Given the description of an element on the screen output the (x, y) to click on. 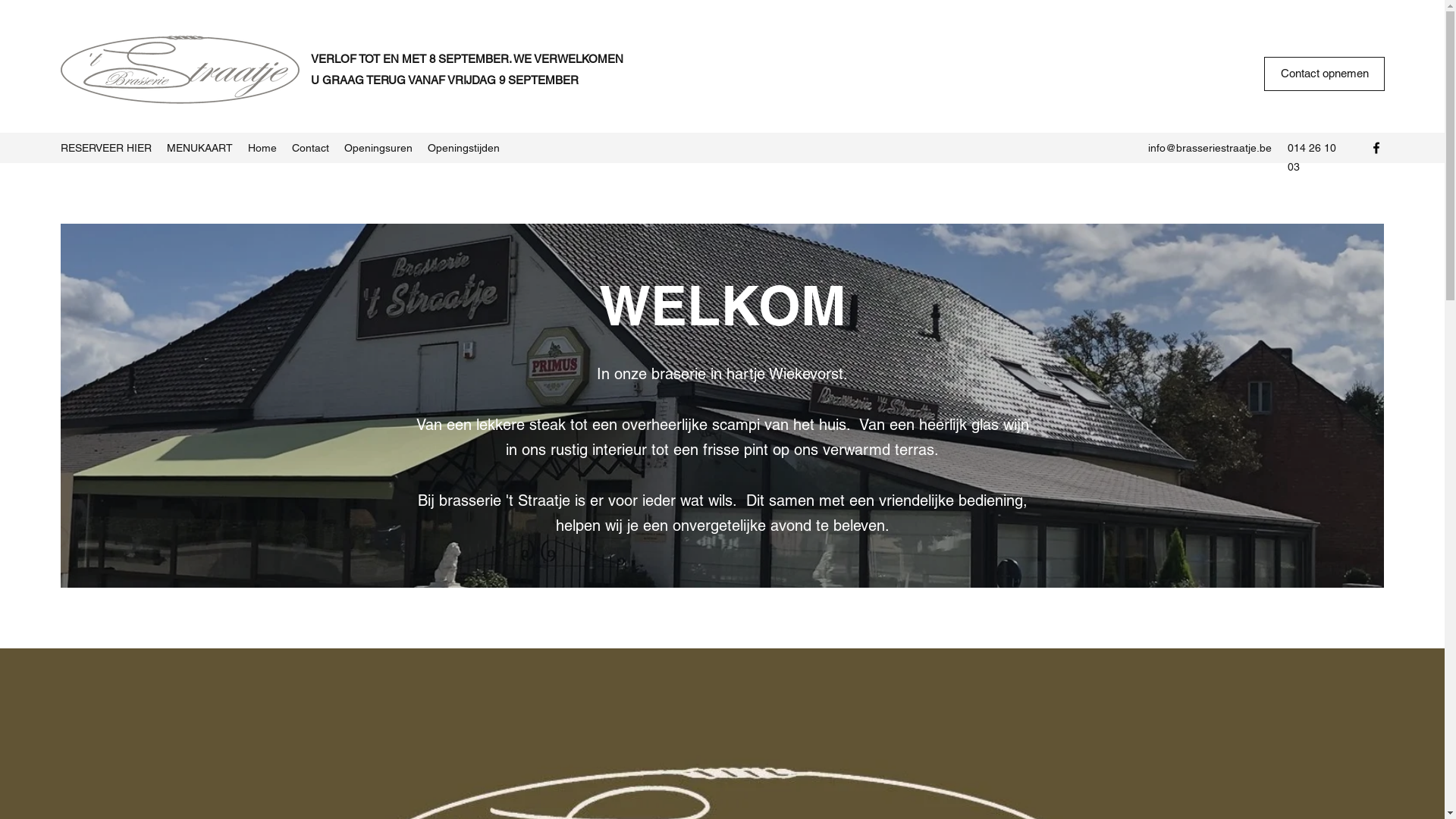
info@brasseriestraatje.be Element type: text (1209, 147)
Contact Element type: text (310, 147)
Home Element type: text (262, 147)
RESERVEER HIER Element type: text (106, 147)
MENUKAART Element type: text (199, 147)
Openingstijden Element type: text (463, 147)
Openingsuren Element type: text (378, 147)
